Given the description of an element on the screen output the (x, y) to click on. 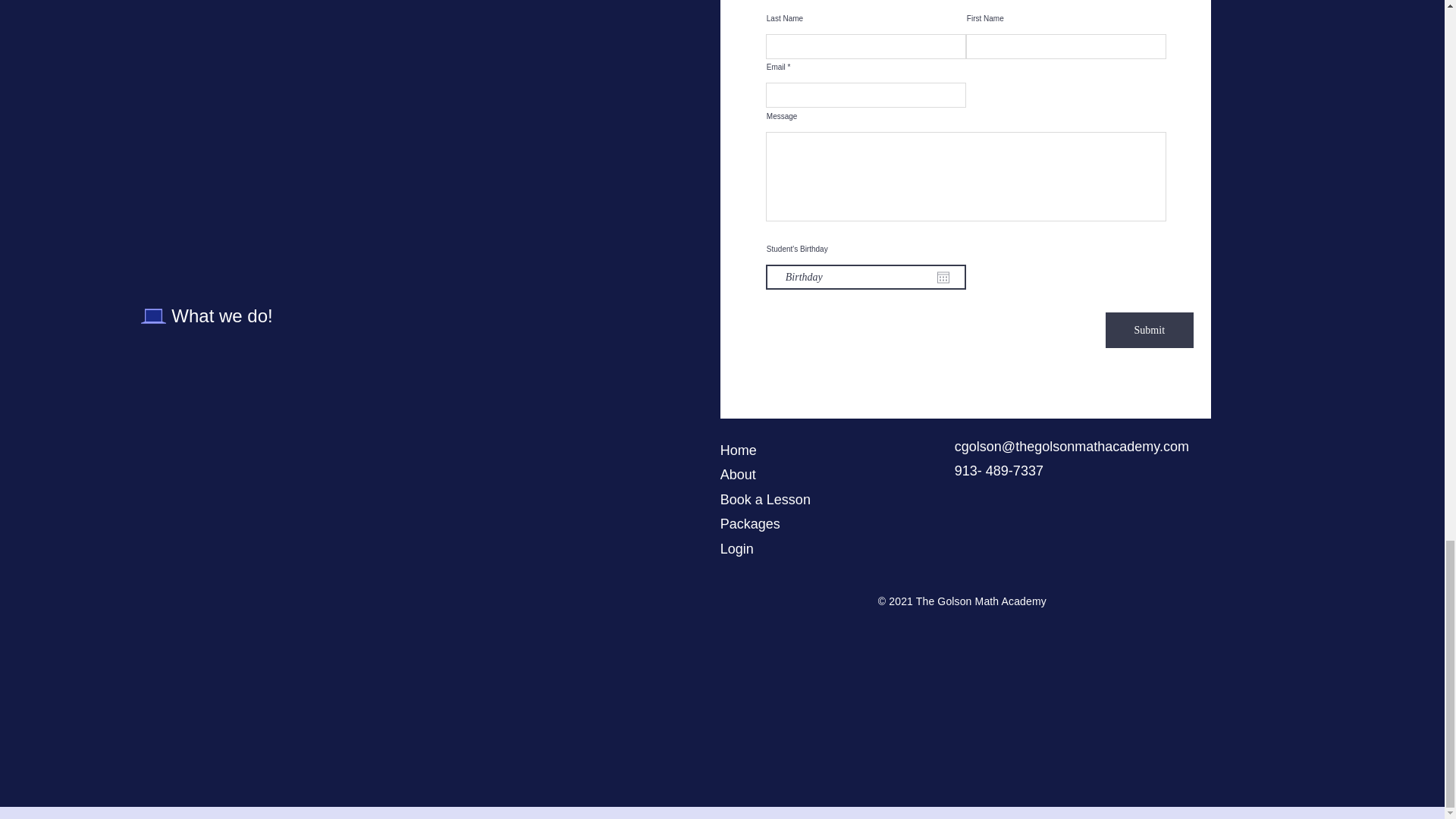
Packages (750, 523)
Login  (738, 548)
Book a Lesson (765, 499)
About (737, 474)
Home (738, 450)
Submit (1149, 330)
What we do! (221, 315)
